Given the description of an element on the screen output the (x, y) to click on. 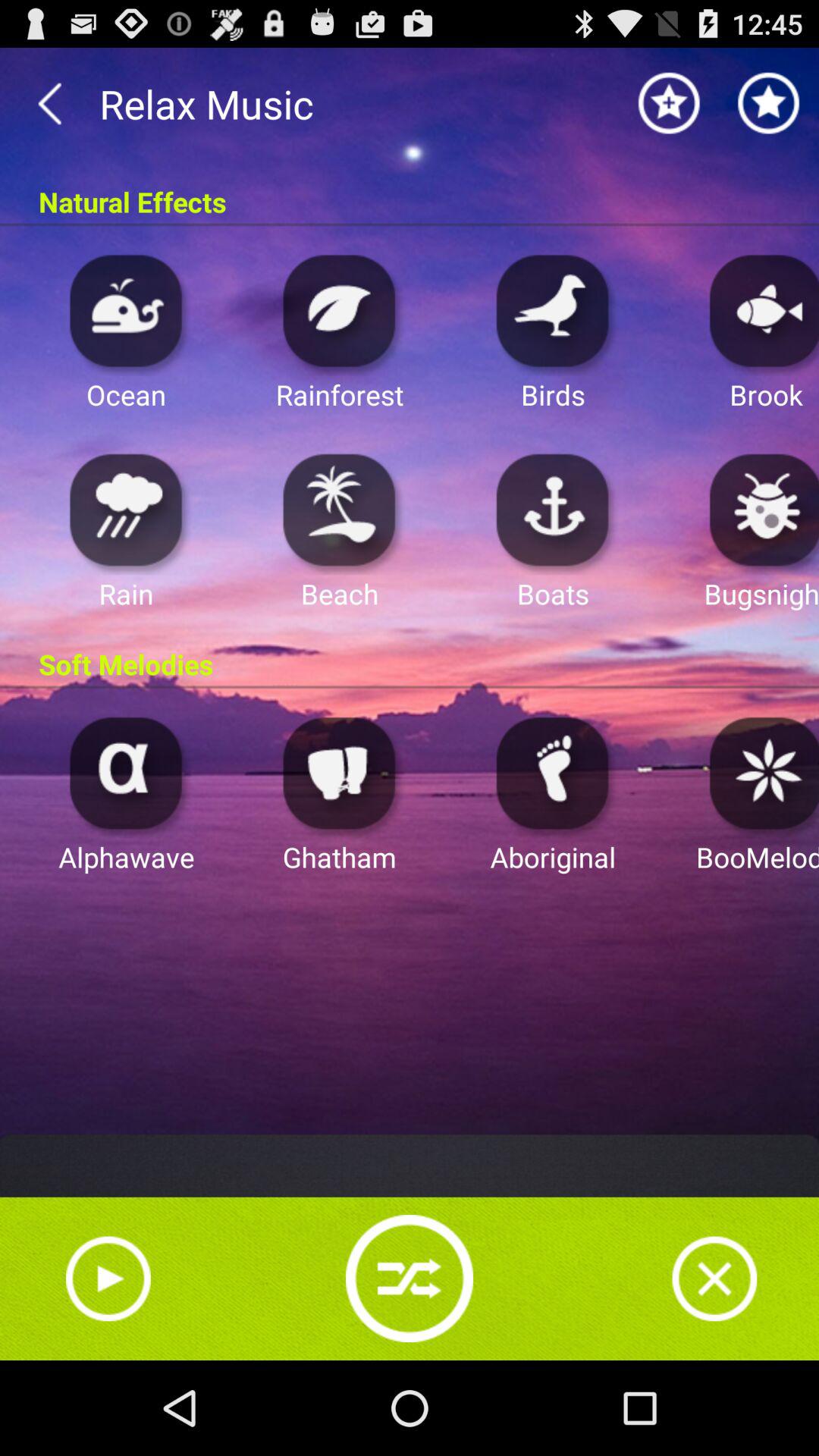
select rain effect (126, 509)
